Given the description of an element on the screen output the (x, y) to click on. 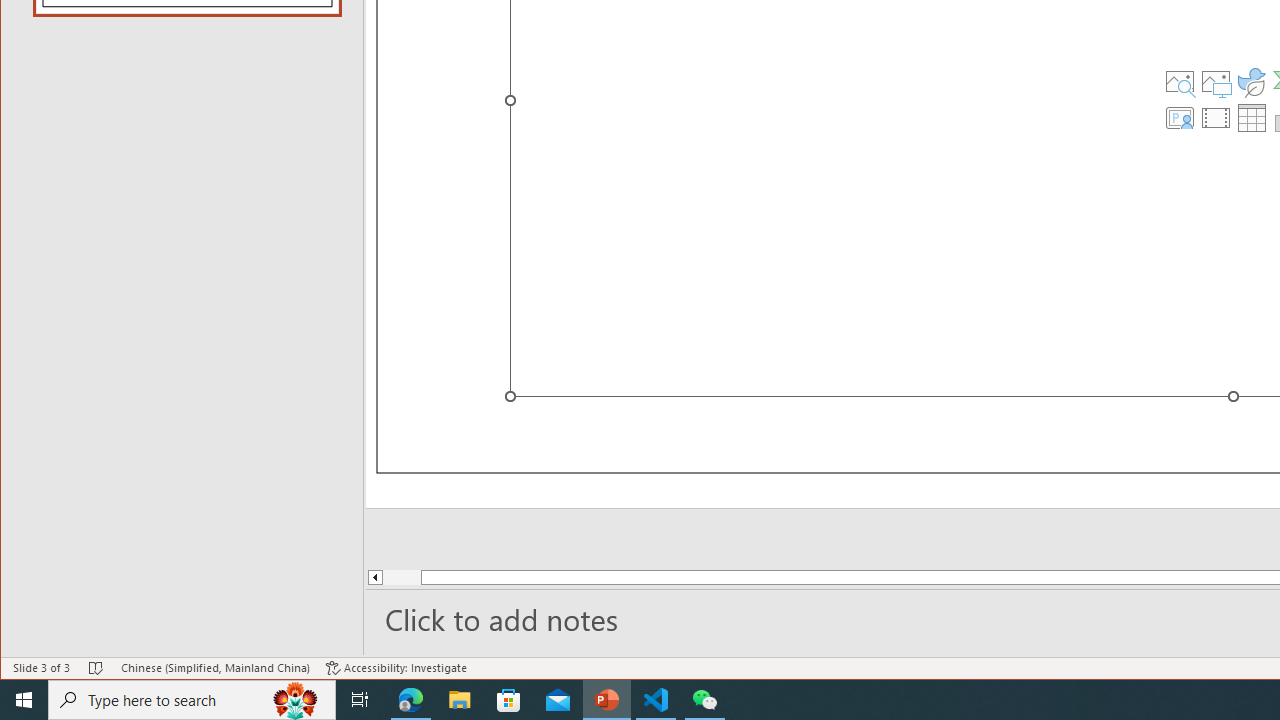
Search highlights icon opens search home window (295, 699)
Accessibility Checker Accessibility: Investigate (395, 668)
Microsoft Store (509, 699)
Insert Video (1215, 117)
Insert Cameo (1179, 117)
WeChat - 1 running window (704, 699)
Line up (374, 577)
Insert Table (1252, 117)
Microsoft Edge - 1 running window (411, 699)
Spell Check No Errors (96, 668)
Visual Studio Code - 1 running window (656, 699)
Start (24, 699)
PowerPoint - 1 running window (607, 699)
Pictures (1215, 81)
